Given the description of an element on the screen output the (x, y) to click on. 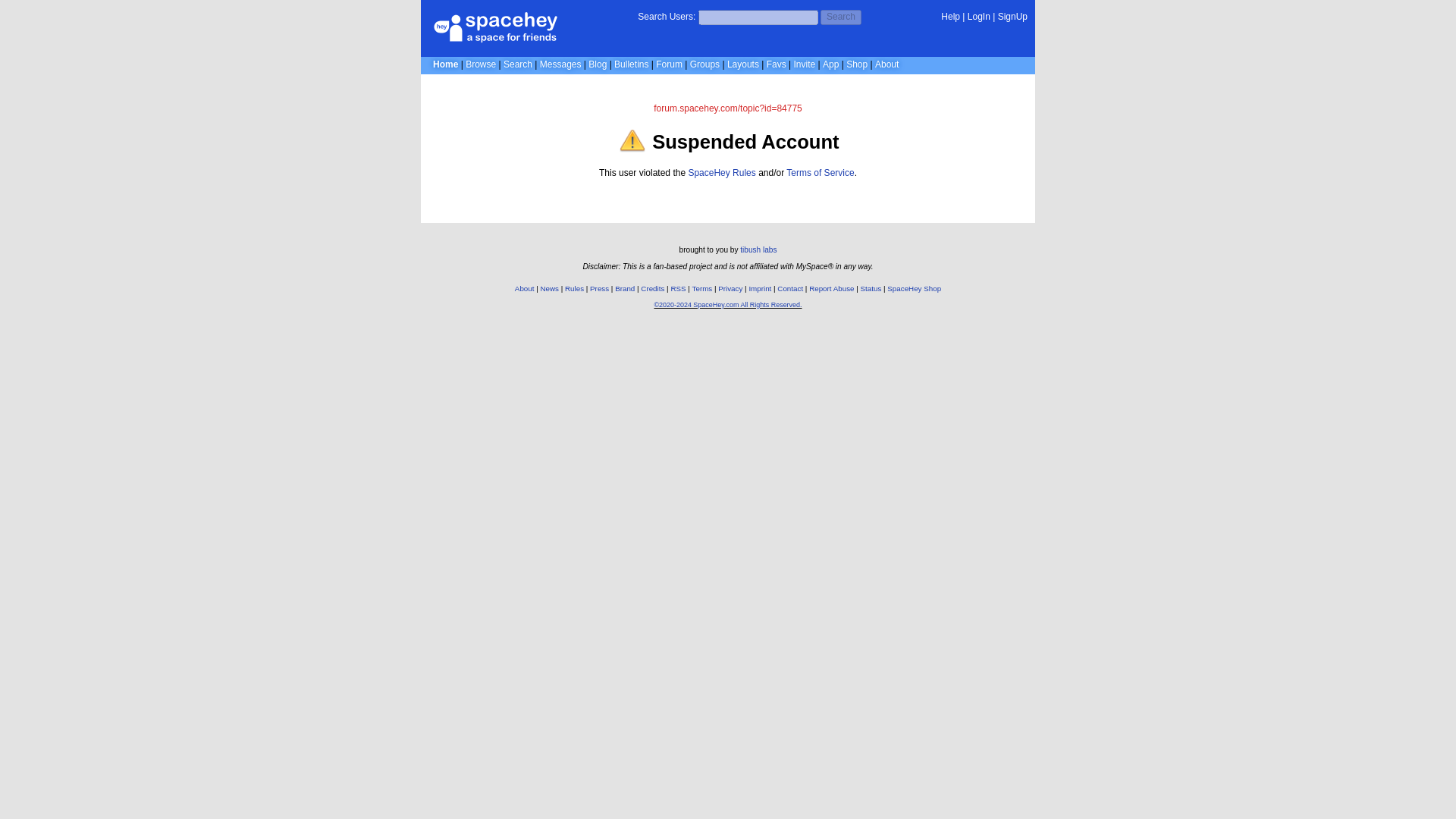
Rules (573, 288)
App (830, 63)
Layouts (742, 63)
tibush labs (757, 249)
About (886, 63)
Terms of Service (819, 172)
RSS (677, 288)
News (549, 288)
Groups (704, 63)
Credits (651, 288)
Favs (776, 63)
Press (598, 288)
Terms (703, 288)
Forum (669, 63)
SignUp (1012, 16)
